Given the description of an element on the screen output the (x, y) to click on. 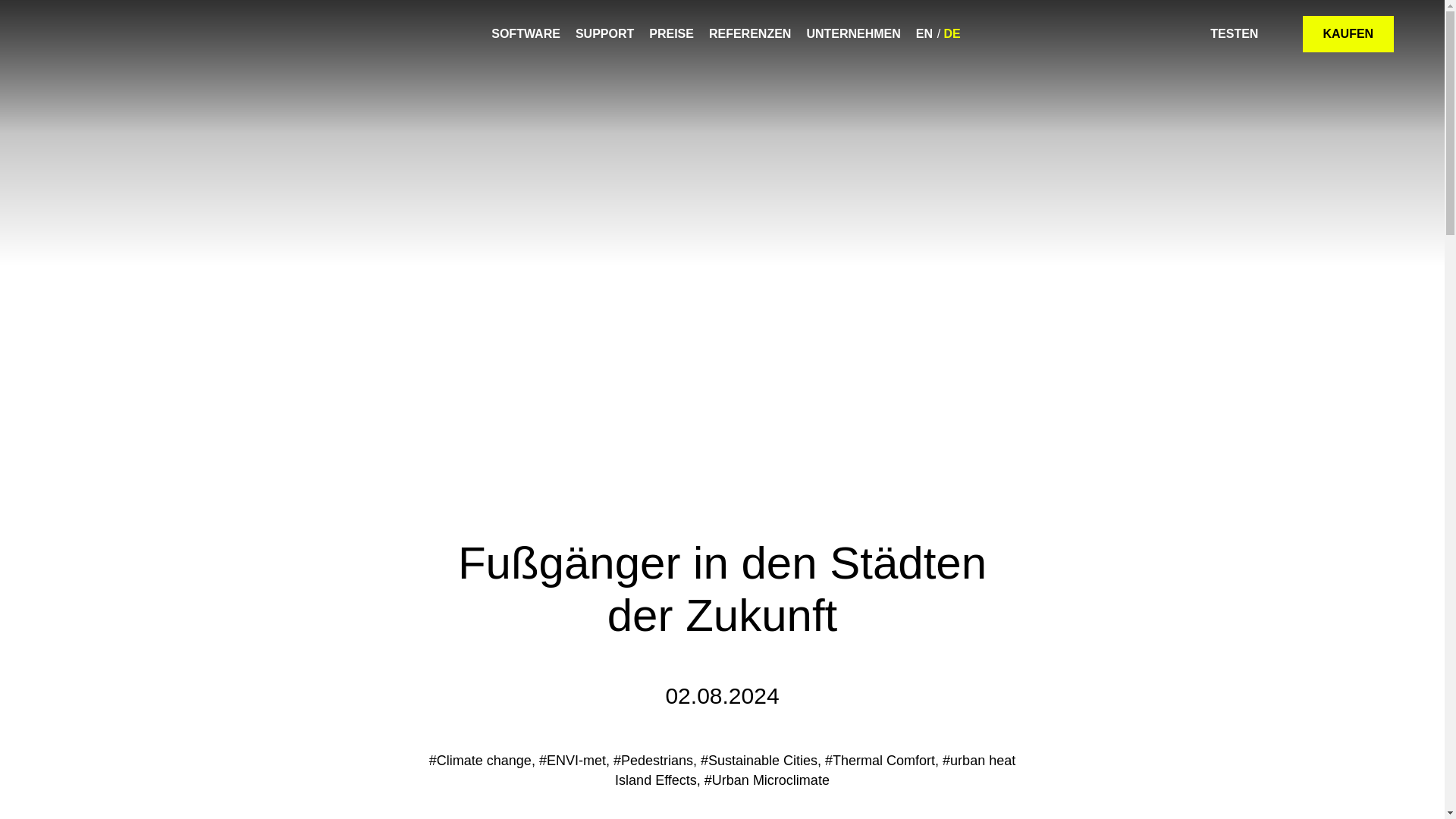
PREISE (671, 33)
SOFTWARE (526, 33)
SUPPORT (604, 33)
REFERENZEN (749, 33)
UNTERNEHMEN (852, 33)
ENVI-met (88, 33)
EN (924, 33)
DE (951, 33)
